Given the description of an element on the screen output the (x, y) to click on. 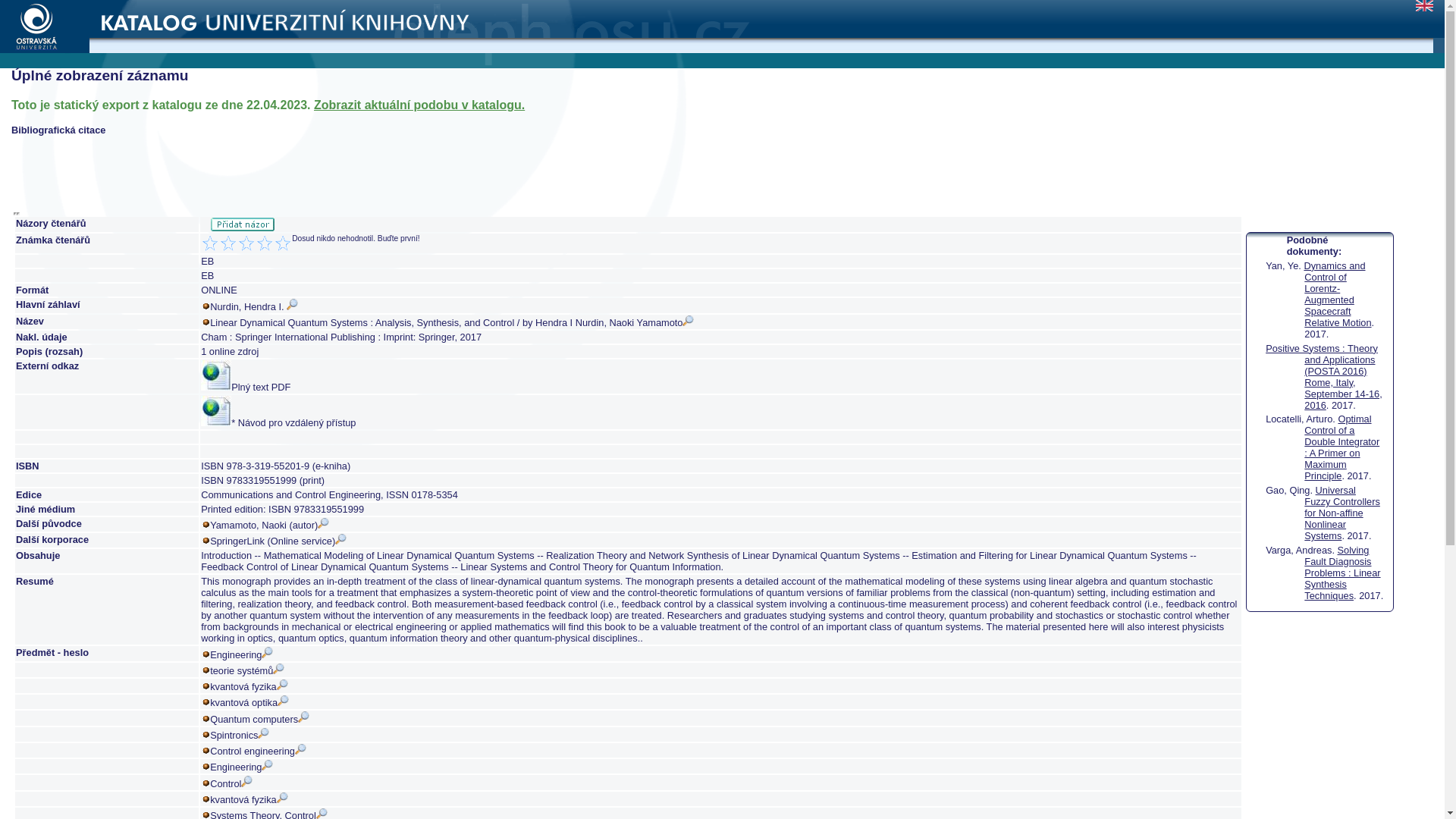
Control engineering (257, 750)
Control (230, 783)
Spintronics (239, 735)
Engineering (241, 767)
Systems Theory, Control (268, 814)
Engineering (241, 654)
Quantum computers (258, 718)
Nurdin, Hendra I.  (253, 306)
